Given the description of an element on the screen output the (x, y) to click on. 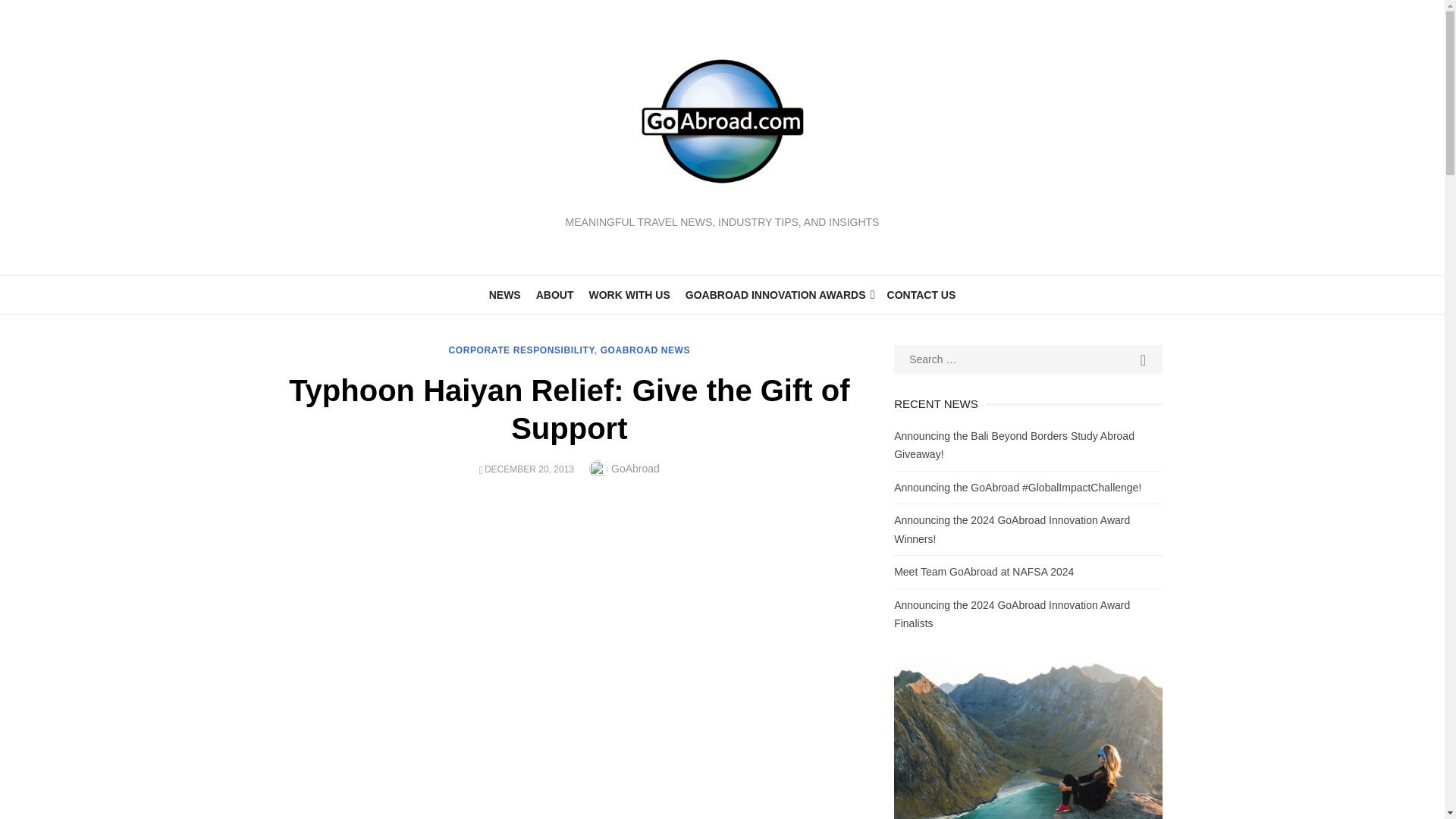
ABOUT (554, 294)
NEWS (504, 294)
GOABROAD INNOVATION AWARDS (778, 294)
WORK WITH US (628, 294)
